Given the description of an element on the screen output the (x, y) to click on. 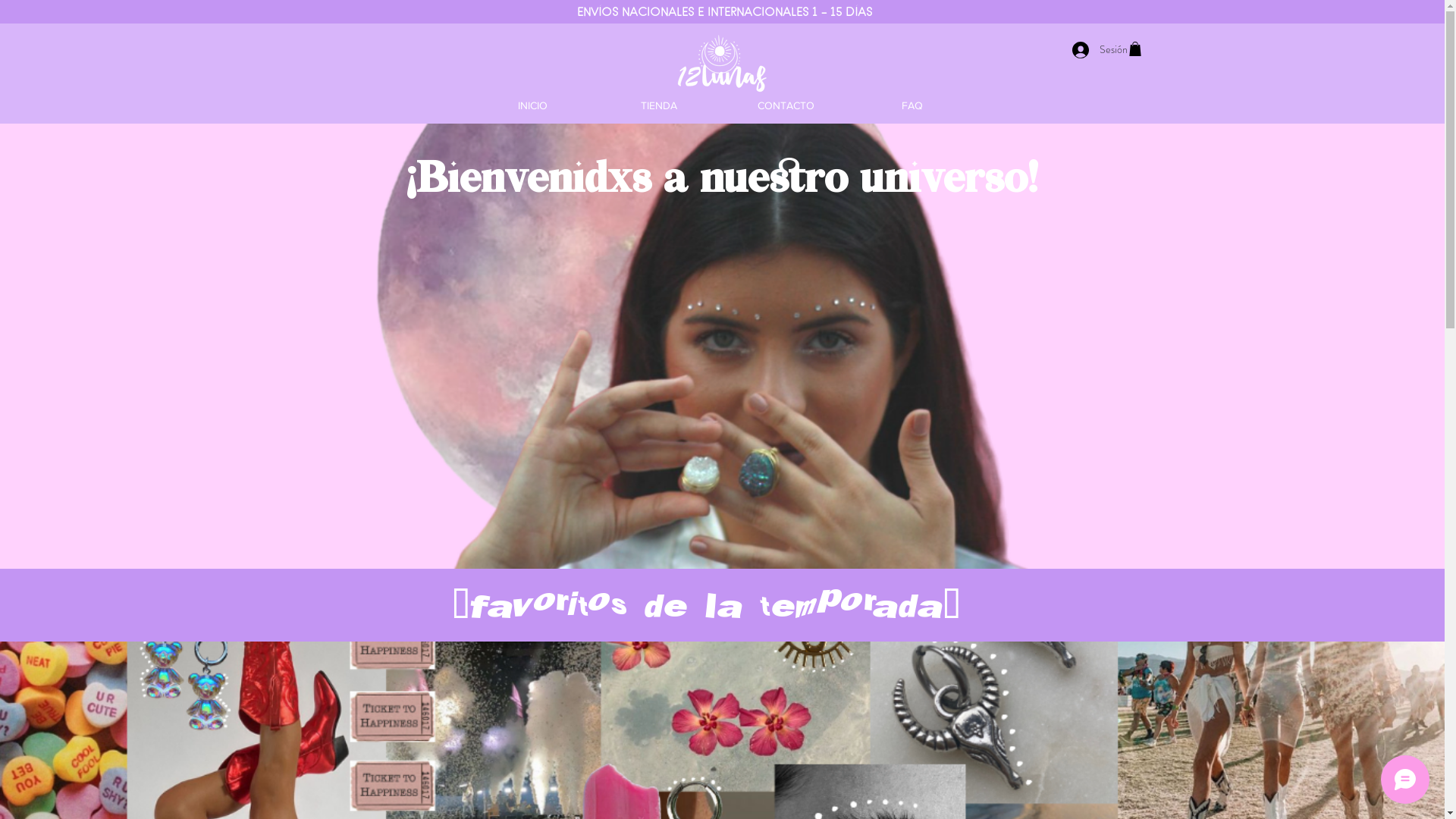
FAQ Element type: text (912, 105)
CONTACTO Element type: text (784, 105)
INICIO Element type: text (531, 105)
0 Element type: text (1134, 48)
TIENDA Element type: text (659, 105)
